Given the description of an element on the screen output the (x, y) to click on. 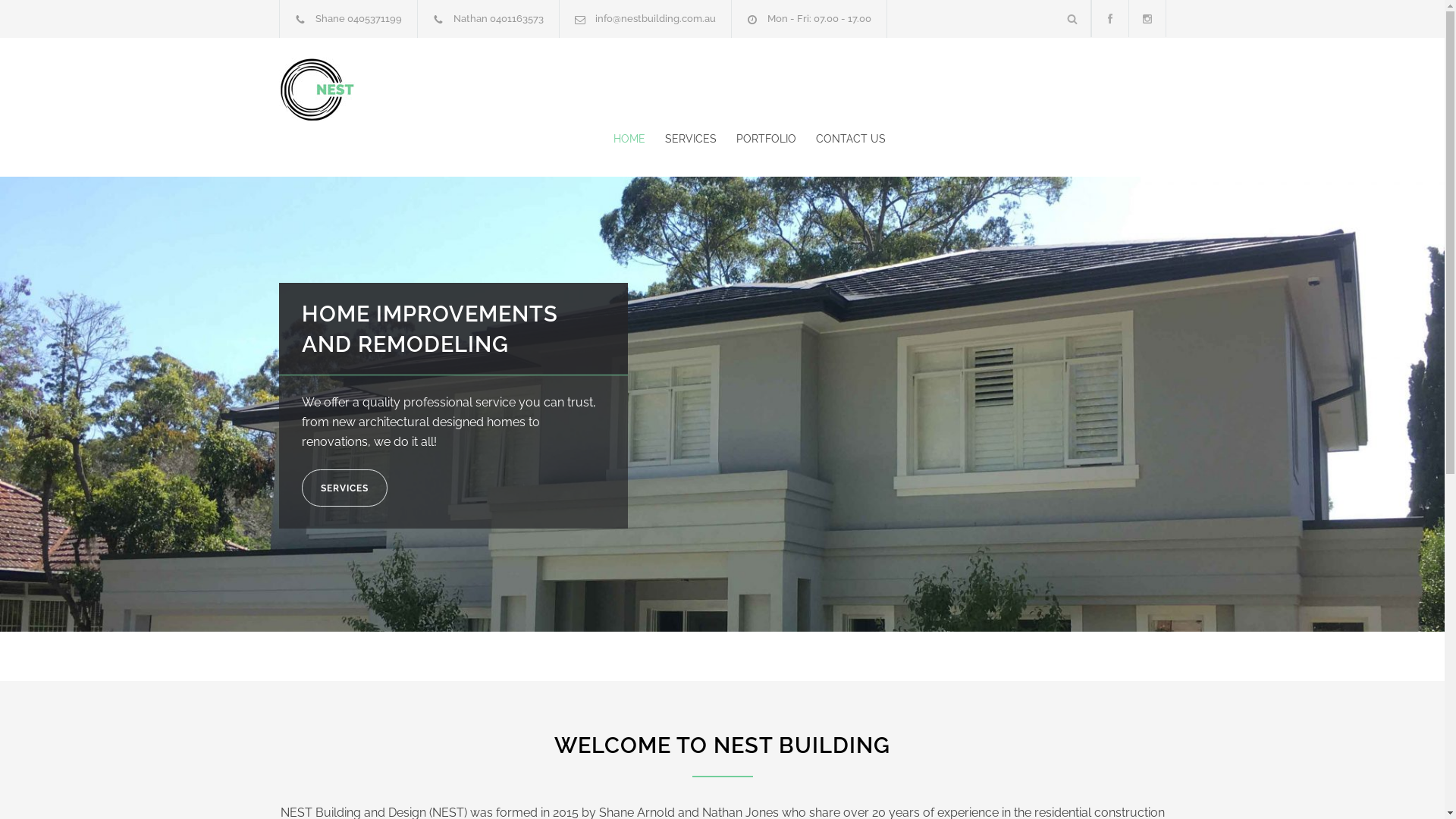
HOME Element type: text (628, 138)
Search Element type: hover (1072, 18)
CONTACT US Element type: text (840, 138)
PORTFOLIO Element type: text (755, 138)
SERVICES Element type: text (344, 487)
HOME IMPROVEMENTS AND REMODELING Element type: text (429, 329)
info@nestbuilding.com.au Element type: text (654, 18)
Nest Element type: hover (419, 88)
SERVICES Element type: text (679, 138)
